Given the description of an element on the screen output the (x, y) to click on. 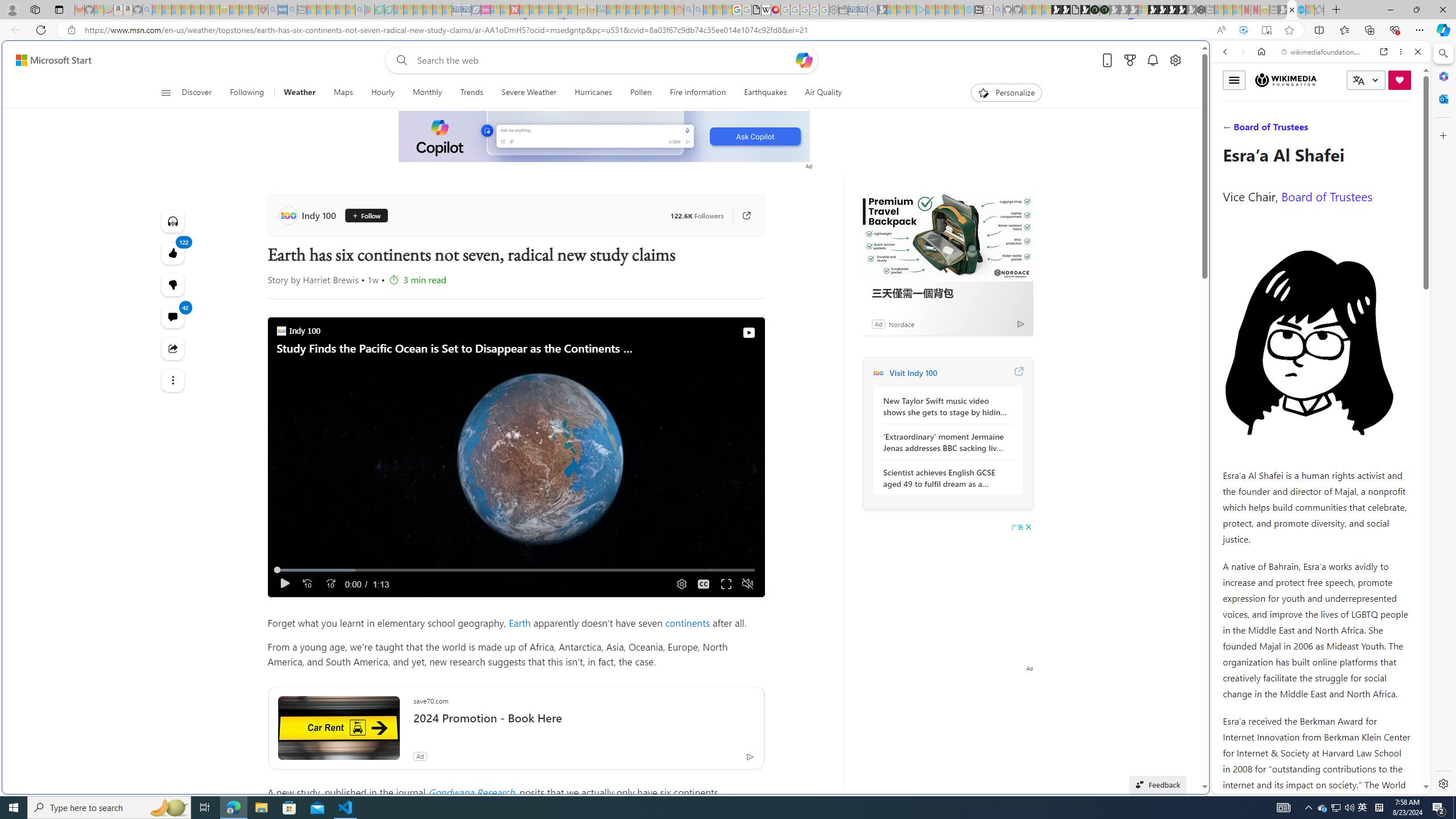
Frequently visited (965, 151)
Monthly (427, 92)
Favorites - Sleeping (1318, 9)
wikimediafoundation.org (1323, 51)
